Given the description of an element on the screen output the (x, y) to click on. 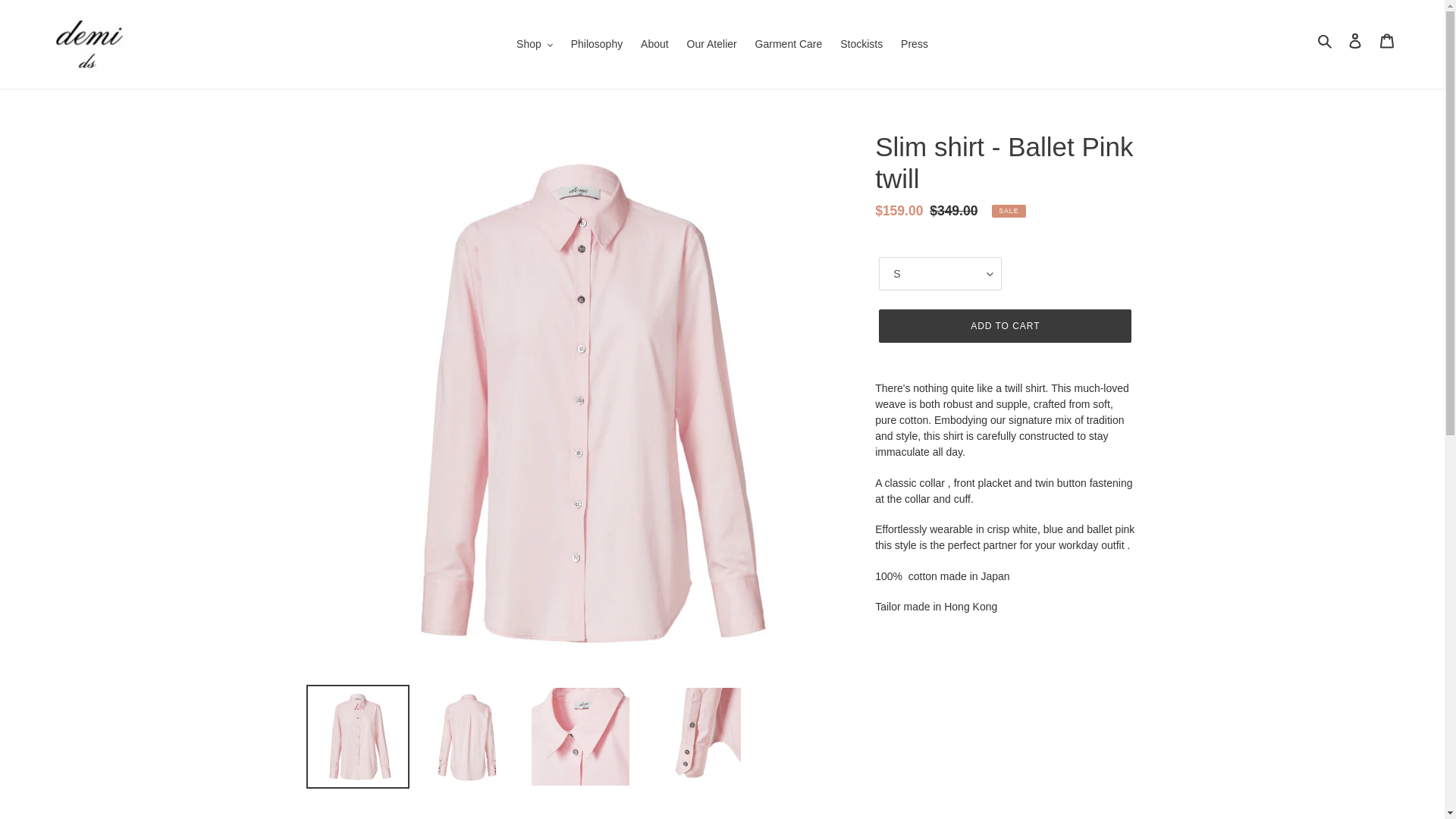
Cart (1387, 40)
Shop (534, 44)
Search (1326, 40)
Log in (1355, 40)
Stockists (860, 44)
Philosophy (596, 44)
Our Atelier (711, 44)
Garment Care (788, 44)
Press (914, 44)
About (655, 44)
